Given the description of an element on the screen output the (x, y) to click on. 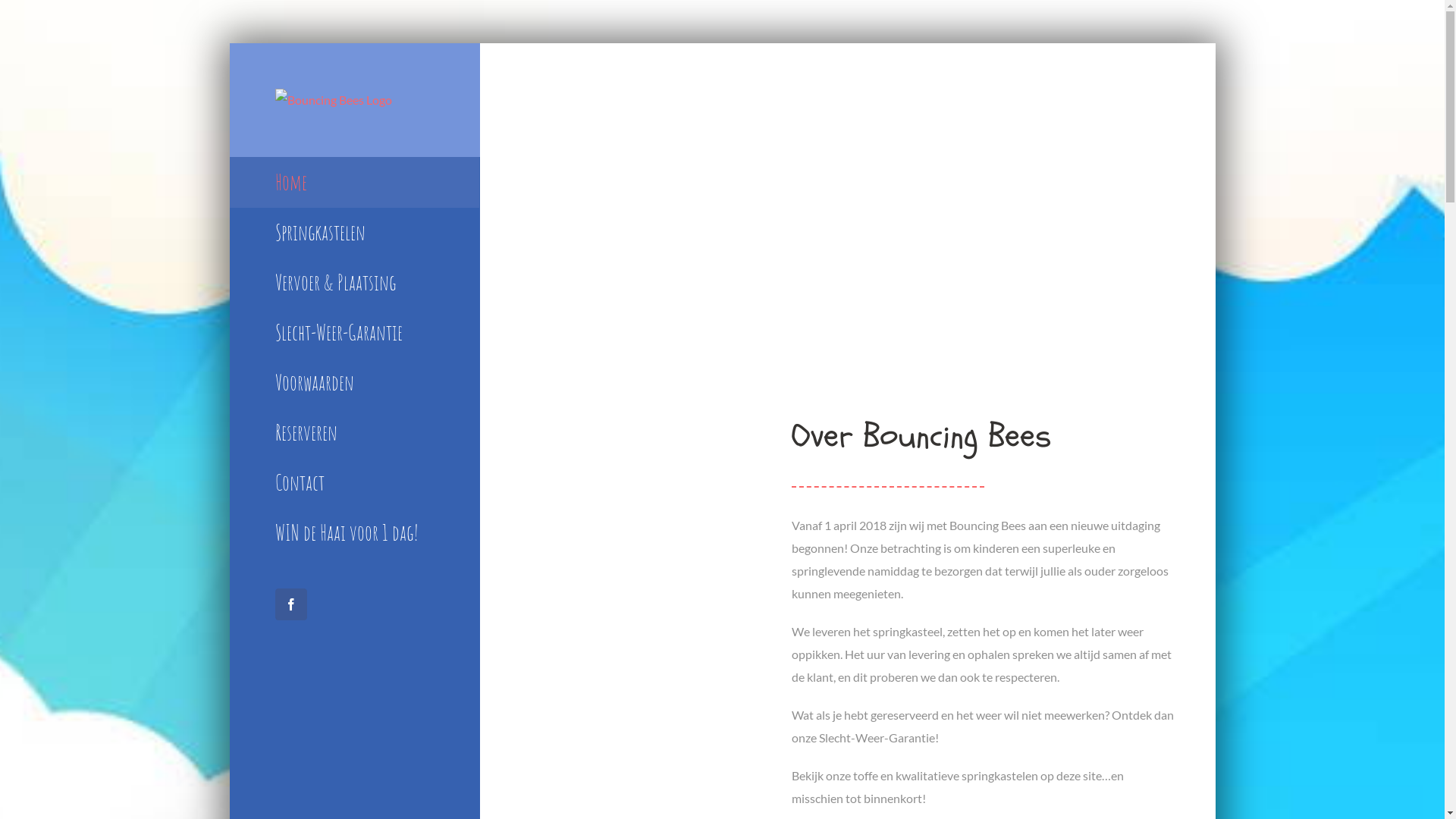
Home Element type: text (353, 181)
Contact Element type: text (353, 483)
WIN de Haai voor 1 dag! Element type: text (353, 533)
Facebook Element type: text (290, 604)
Slecht-Weer-Garantie Element type: text (353, 332)
Vervoer & Plaatsing Element type: text (353, 282)
Voorwaarden Element type: text (353, 382)
Springkastelen Element type: text (353, 232)
Reserveren Element type: text (353, 432)
